Given the description of an element on the screen output the (x, y) to click on. 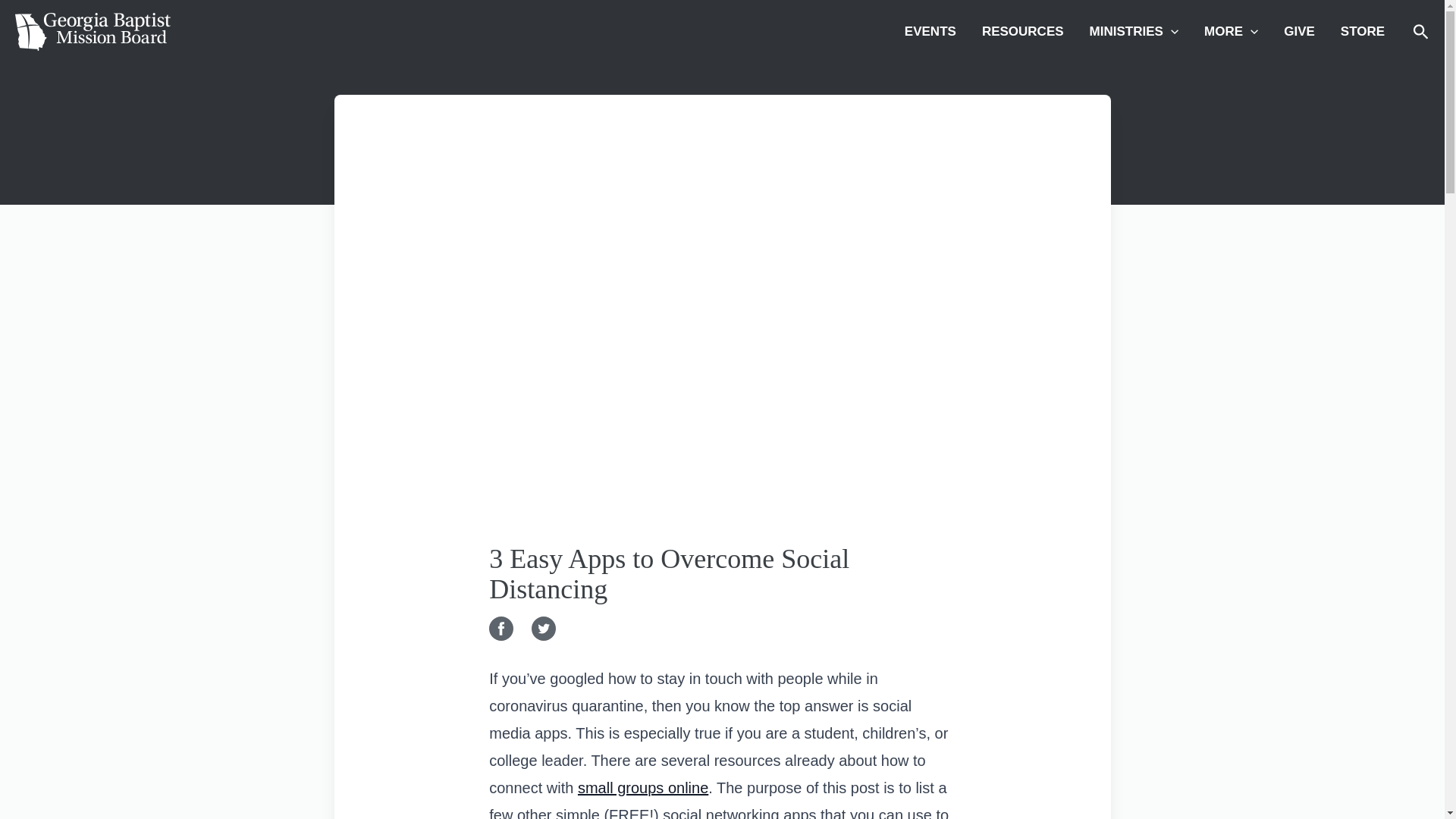
EVENTS (930, 31)
Share on Twitter (546, 631)
Share on Facebook (504, 631)
RESOURCES (1023, 31)
MINISTRIES (1134, 31)
MORE (1231, 31)
